Given the description of an element on the screen output the (x, y) to click on. 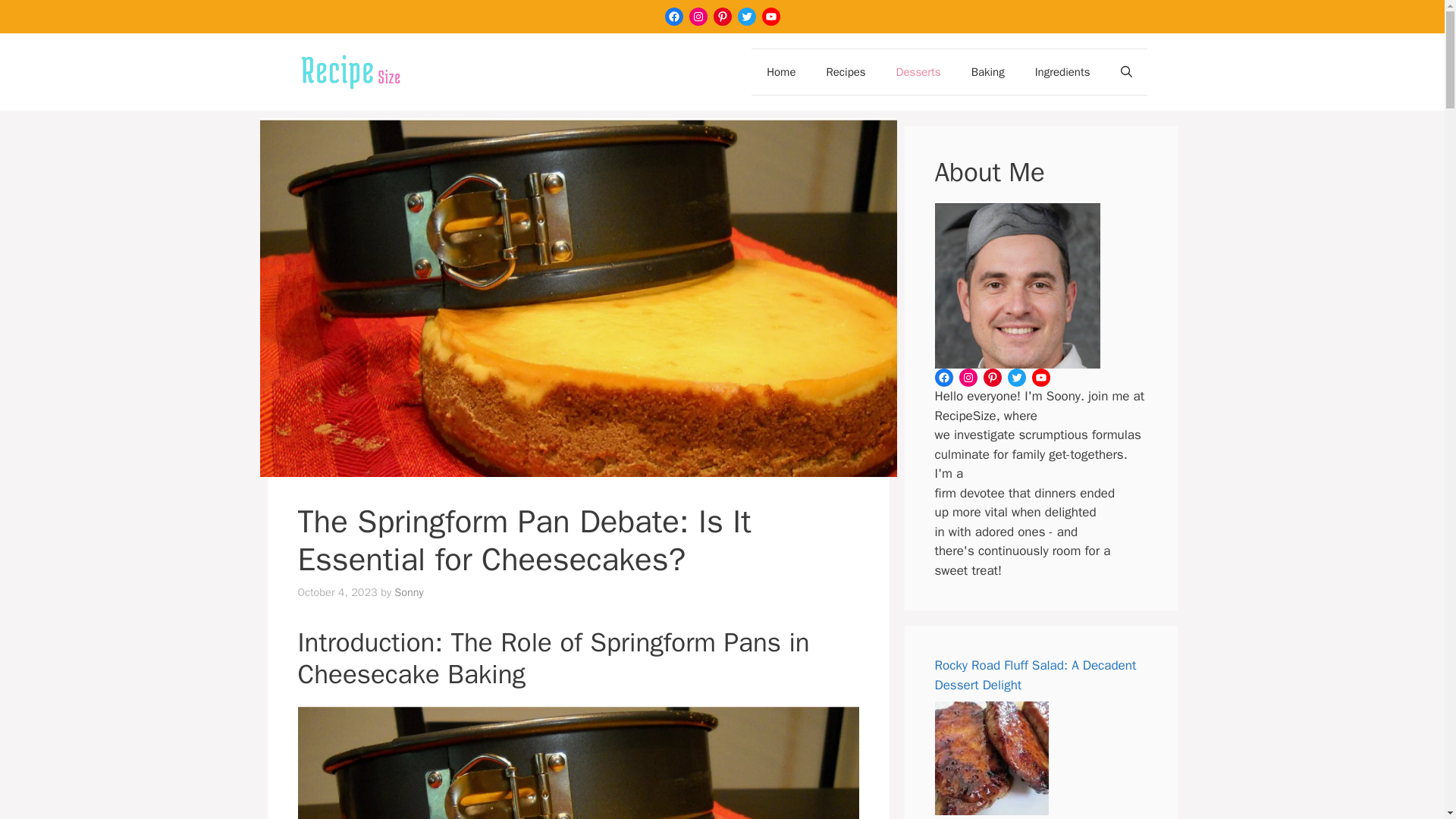
Ingredients (1062, 72)
Home (780, 72)
View all posts by Sonny (408, 591)
Recipes (845, 72)
Twitter (745, 16)
YouTube (769, 16)
Facebook (672, 16)
Pinterest (721, 16)
Desserts (918, 72)
Baking (988, 72)
Sonny (408, 591)
Instagram (697, 16)
